Given the description of an element on the screen output the (x, y) to click on. 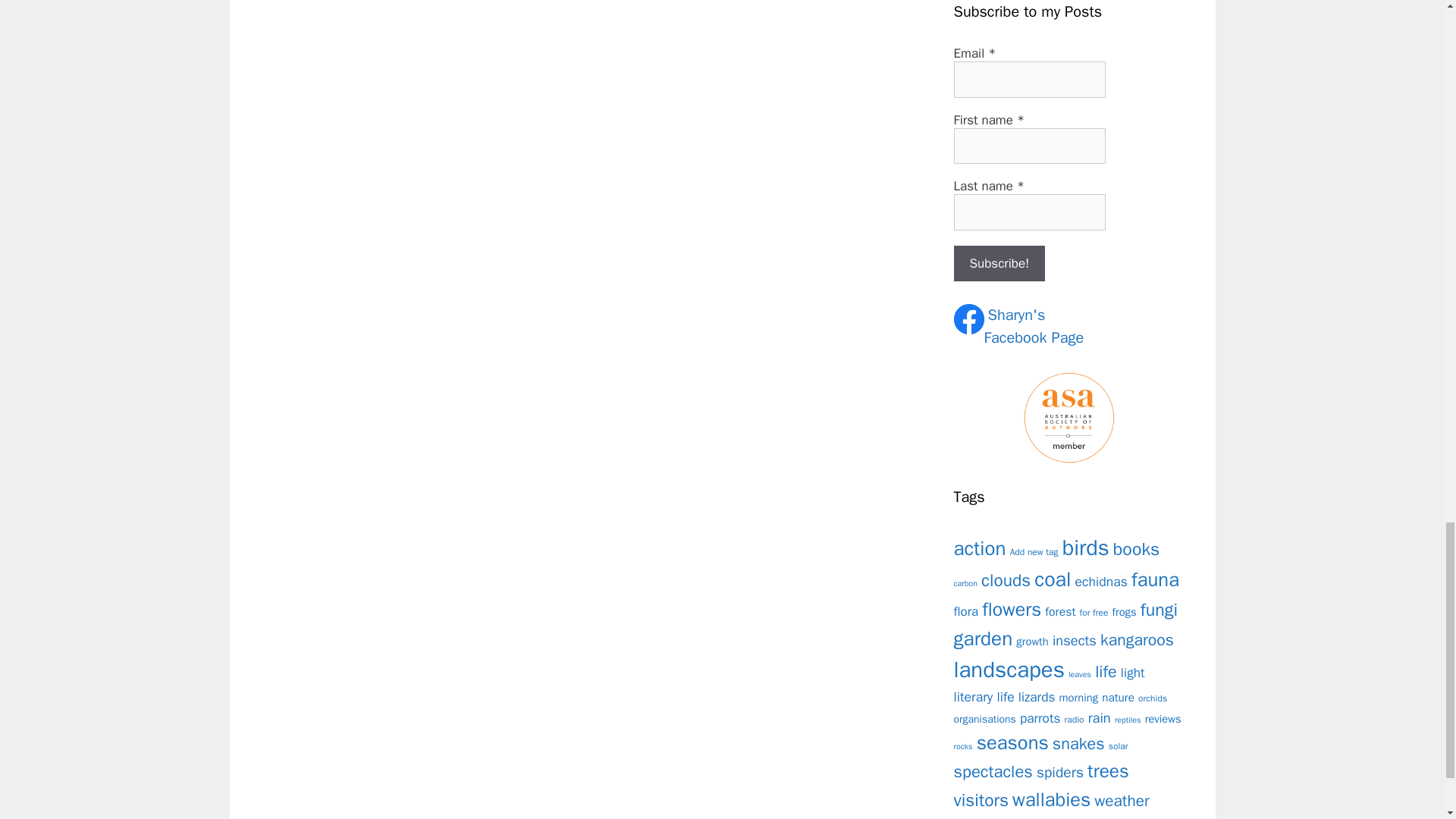
First name (1029, 145)
Email (1029, 79)
birds (1085, 547)
flora (965, 611)
carbon (965, 583)
flowers (1011, 608)
Subscribe! (999, 263)
fauna (1155, 579)
Add new tag (1034, 551)
echidnas (1100, 581)
forest (1060, 611)
Subscribe! (999, 263)
clouds (1005, 580)
Last name (1029, 212)
coal (1051, 579)
